Given the description of an element on the screen output the (x, y) to click on. 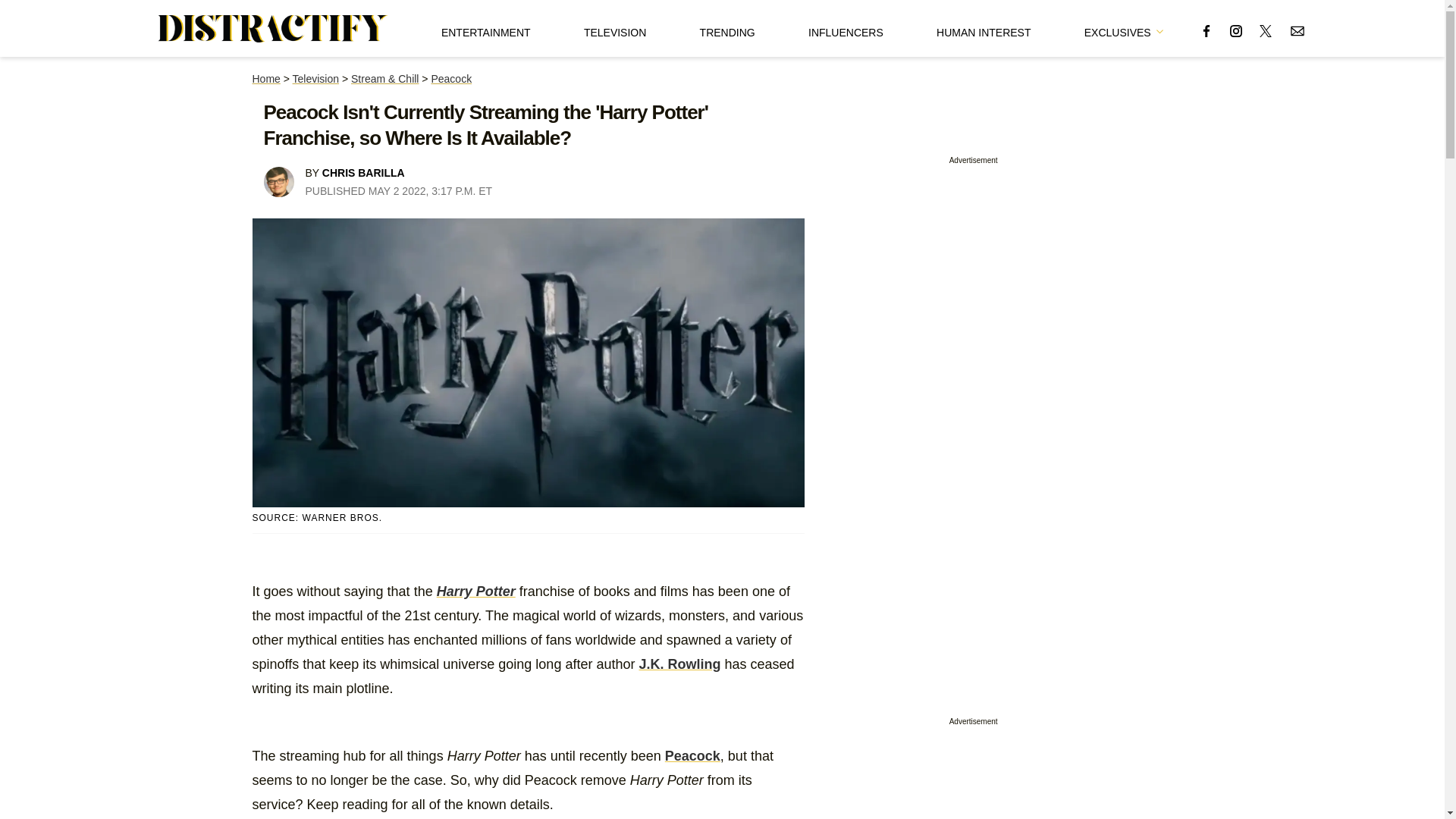
INFLUENCERS (845, 27)
LINK TO EMAIL SUBSCRIBE (1297, 30)
Peacock (692, 755)
Home (265, 78)
ENTERTAINMENT (486, 27)
Television (315, 78)
LINK TO FACEBOOK (1205, 30)
LINK TO INSTAGRAM (1235, 30)
J.K. Rowling (679, 663)
HUMAN INTEREST (983, 27)
